Given the description of an element on the screen output the (x, y) to click on. 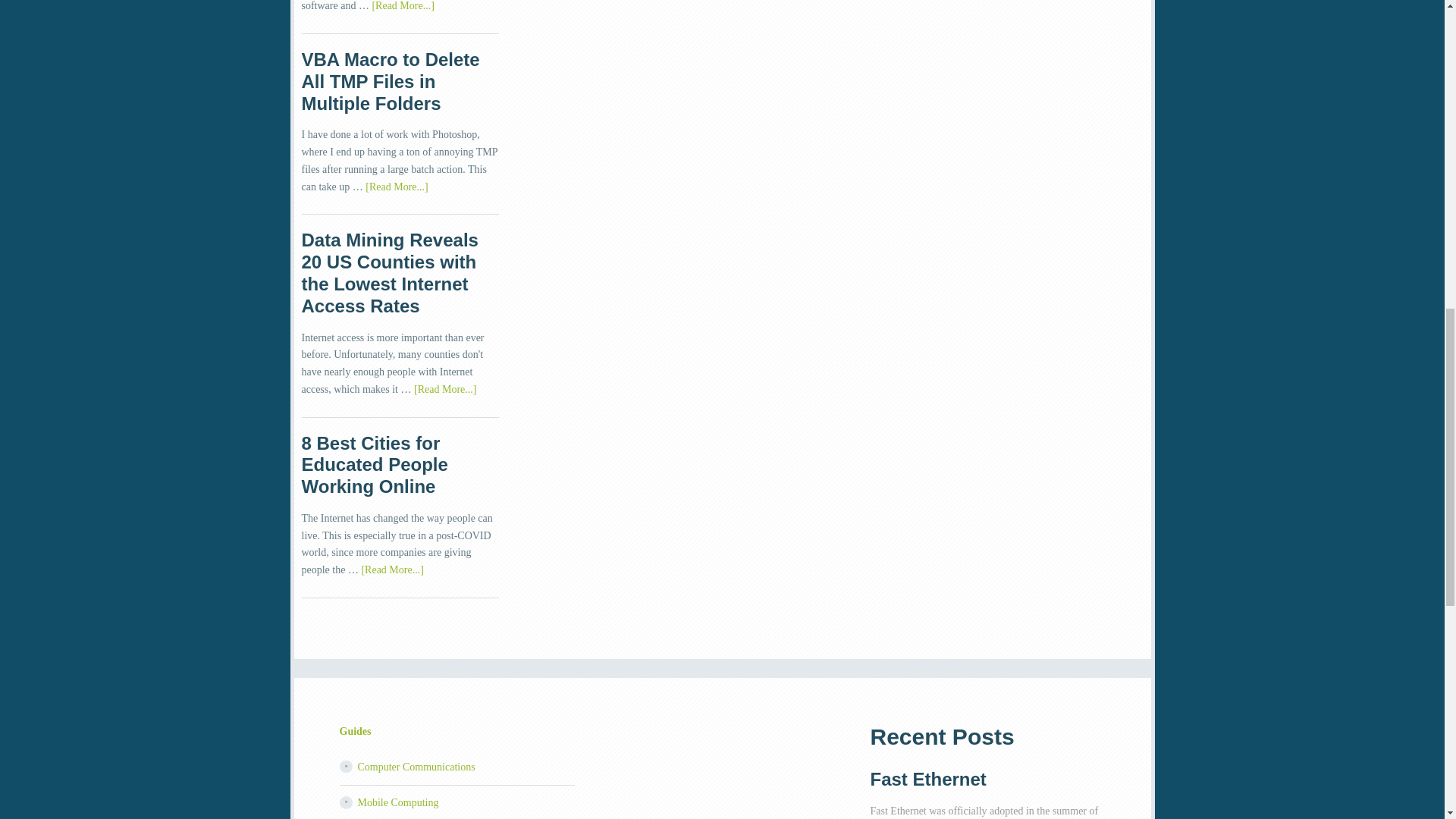
Mobile Computing (398, 802)
Guides (355, 731)
8 Best Cities for Educated People Working Online (374, 465)
Computer Communications (417, 767)
VBA Macro to Delete All TMP Files in Multiple Folders (390, 81)
